Given the description of an element on the screen output the (x, y) to click on. 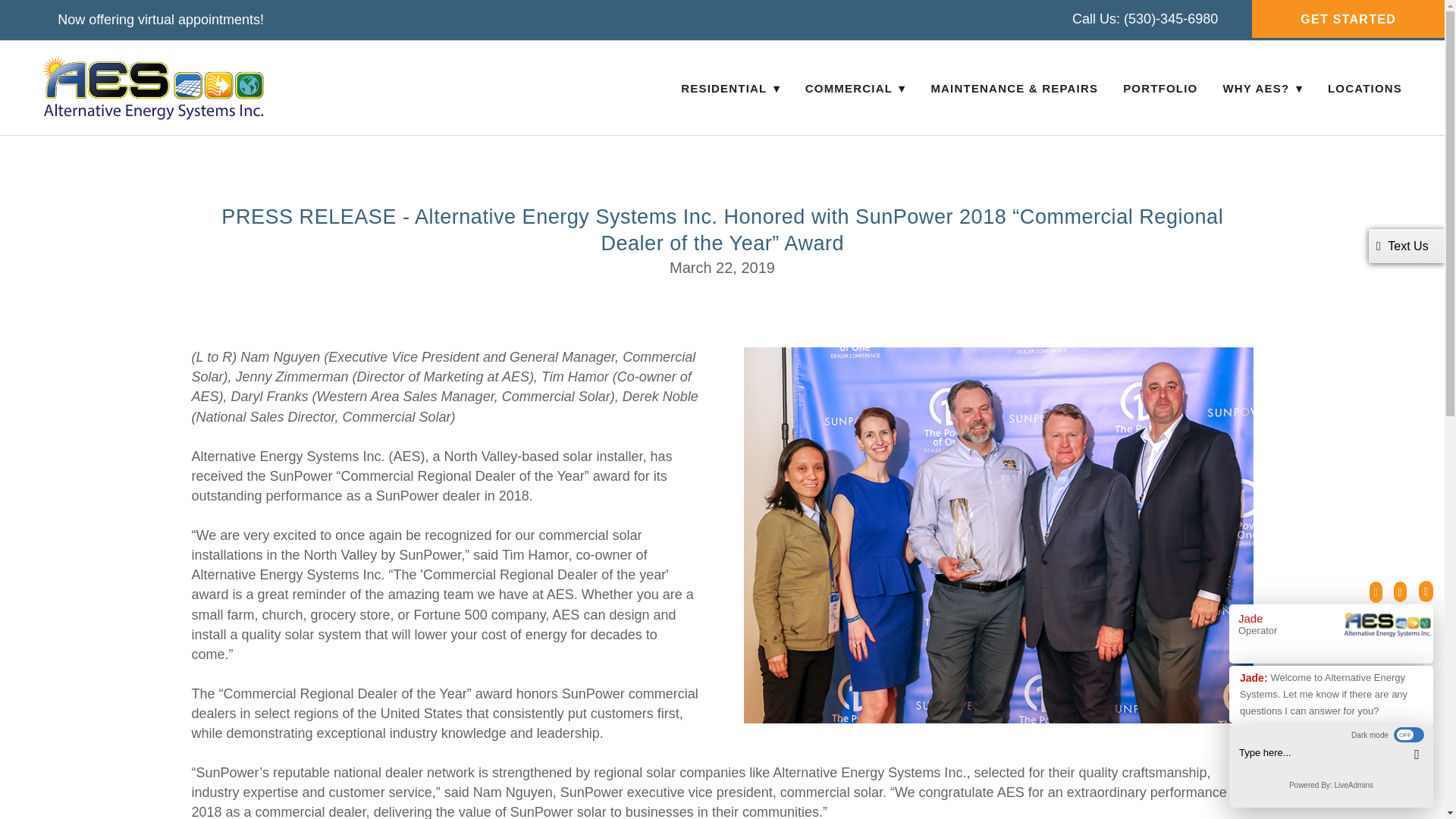
6980 (1202, 18)
PORTFOLIO (1159, 87)
Now offering virtual appointments! (160, 19)
LOCATIONS (1364, 87)
Alternative Energy Systems (152, 87)
